Given the description of an element on the screen output the (x, y) to click on. 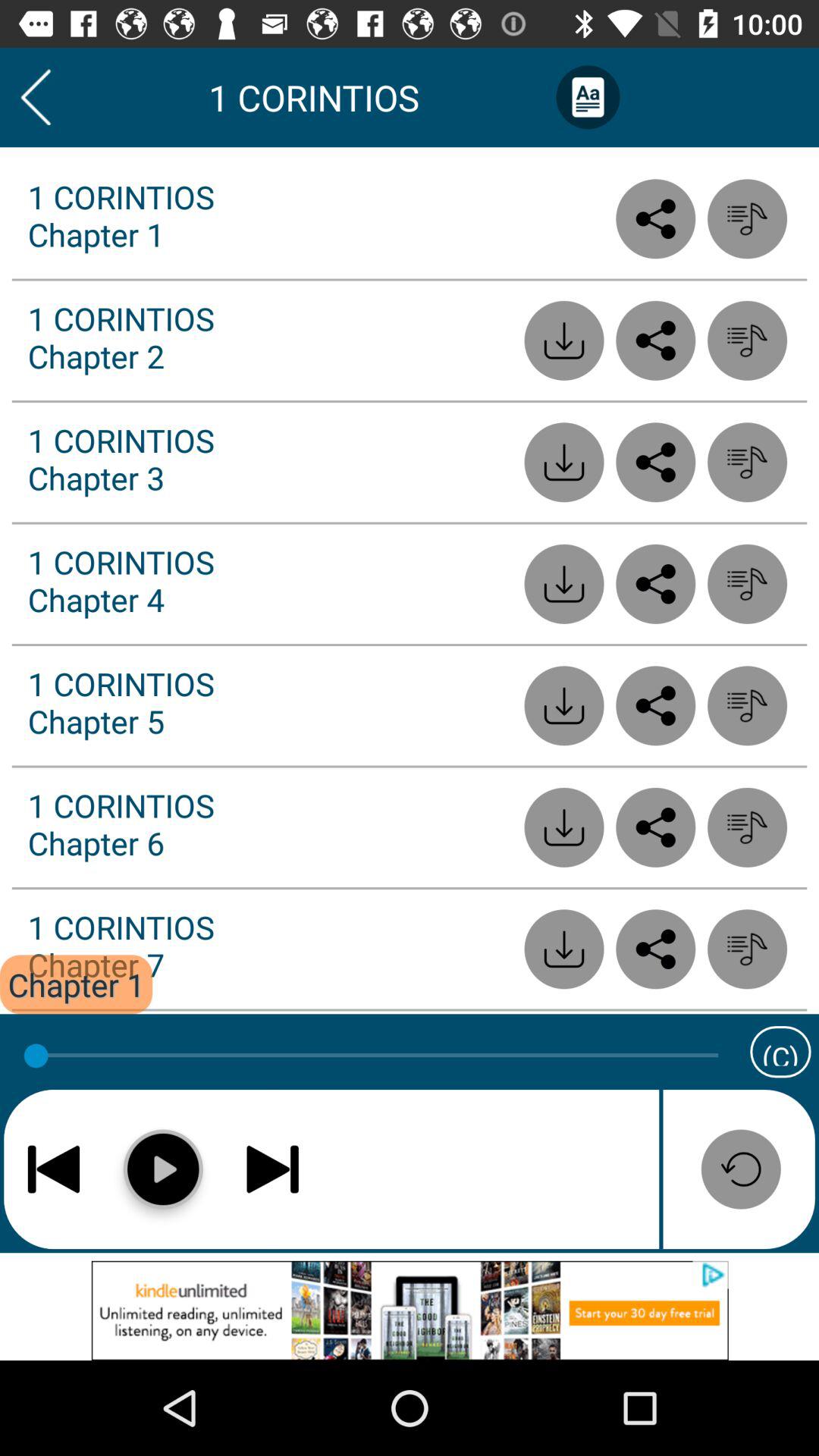
add chapter to library (747, 827)
